Given the description of an element on the screen output the (x, y) to click on. 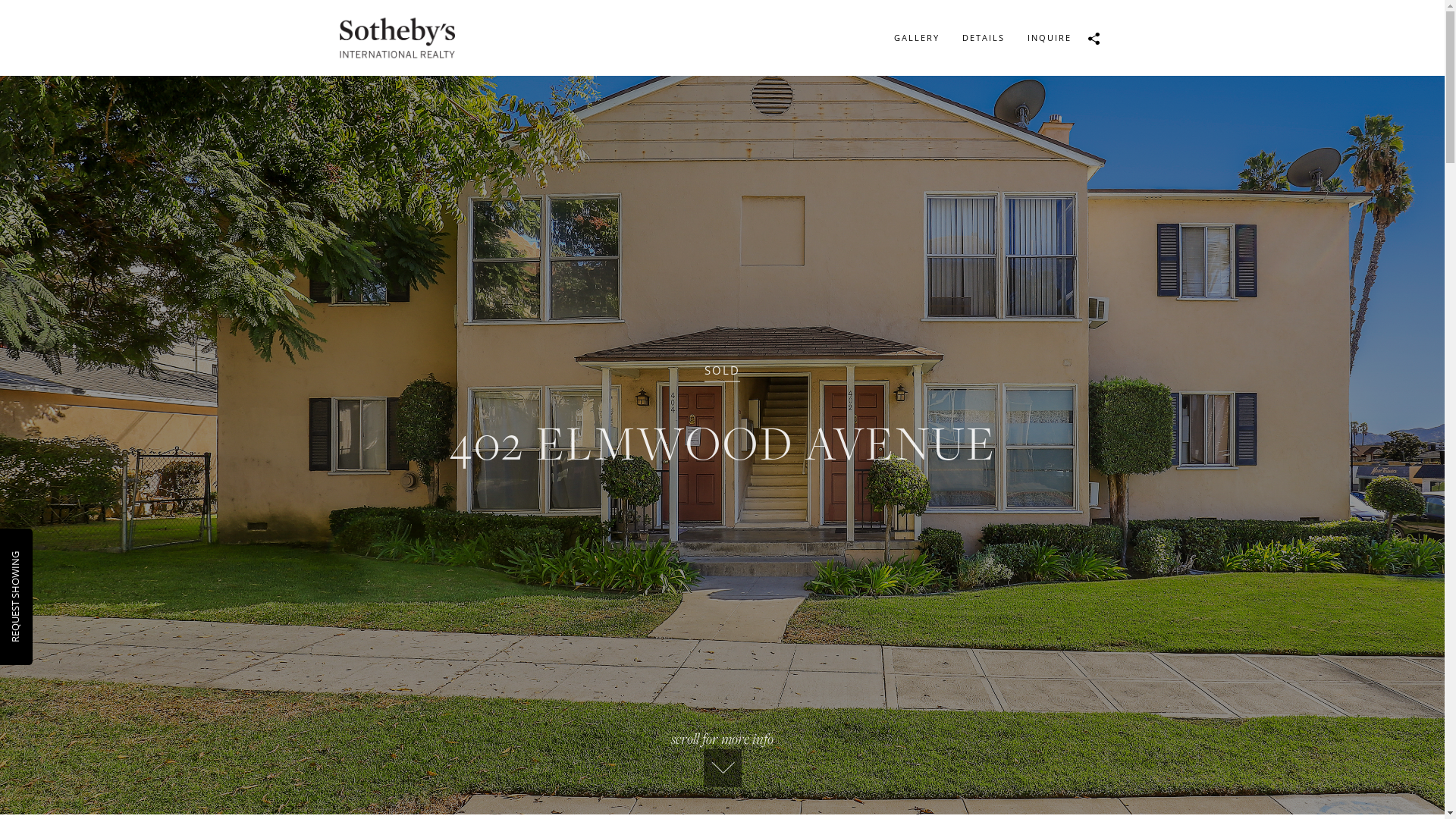
GALLERY Element type: text (916, 37)
DETAILS Element type: text (983, 37)
scroll for more info Element type: text (721, 757)
INQUIRE Element type: text (1049, 37)
REQUEST SHOWING Element type: text (53, 557)
